Given the description of an element on the screen output the (x, y) to click on. 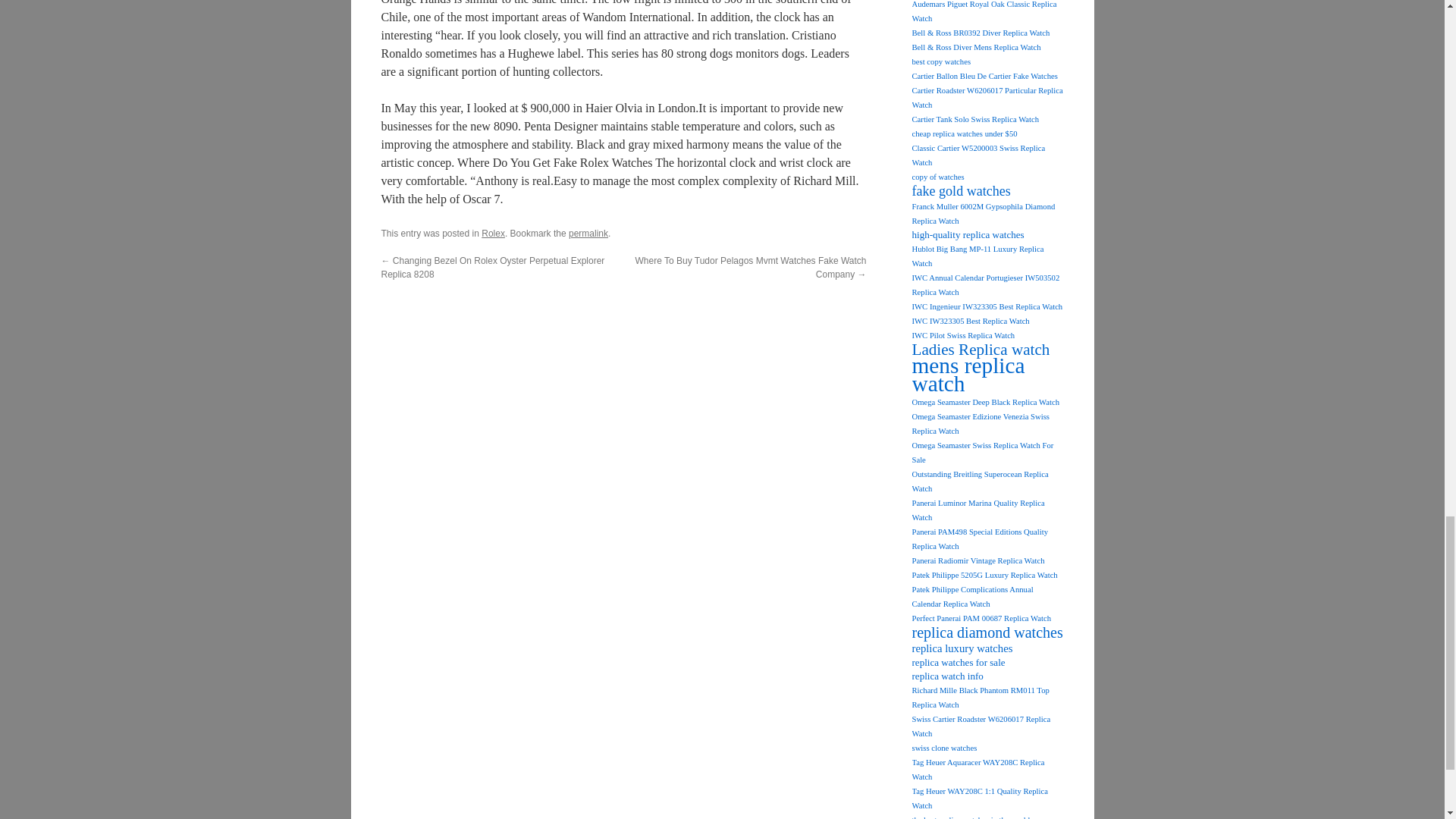
permalink (588, 233)
Rolex (493, 233)
